Given the description of an element on the screen output the (x, y) to click on. 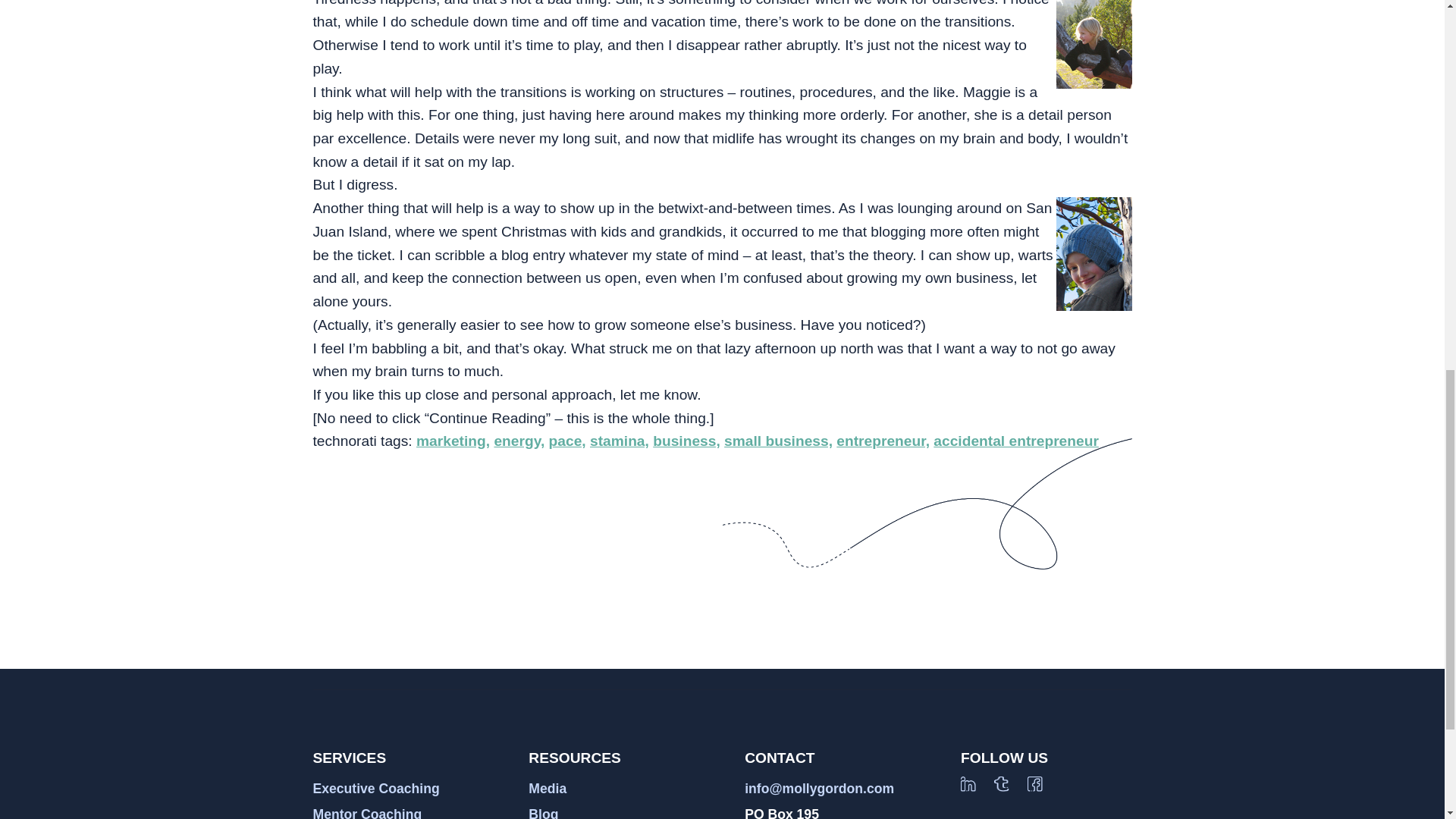
dark-line (926, 503)
Mentor Coaching (367, 812)
Blog (542, 812)
Media (547, 788)
Executive Coaching (376, 788)
